Given the description of an element on the screen output the (x, y) to click on. 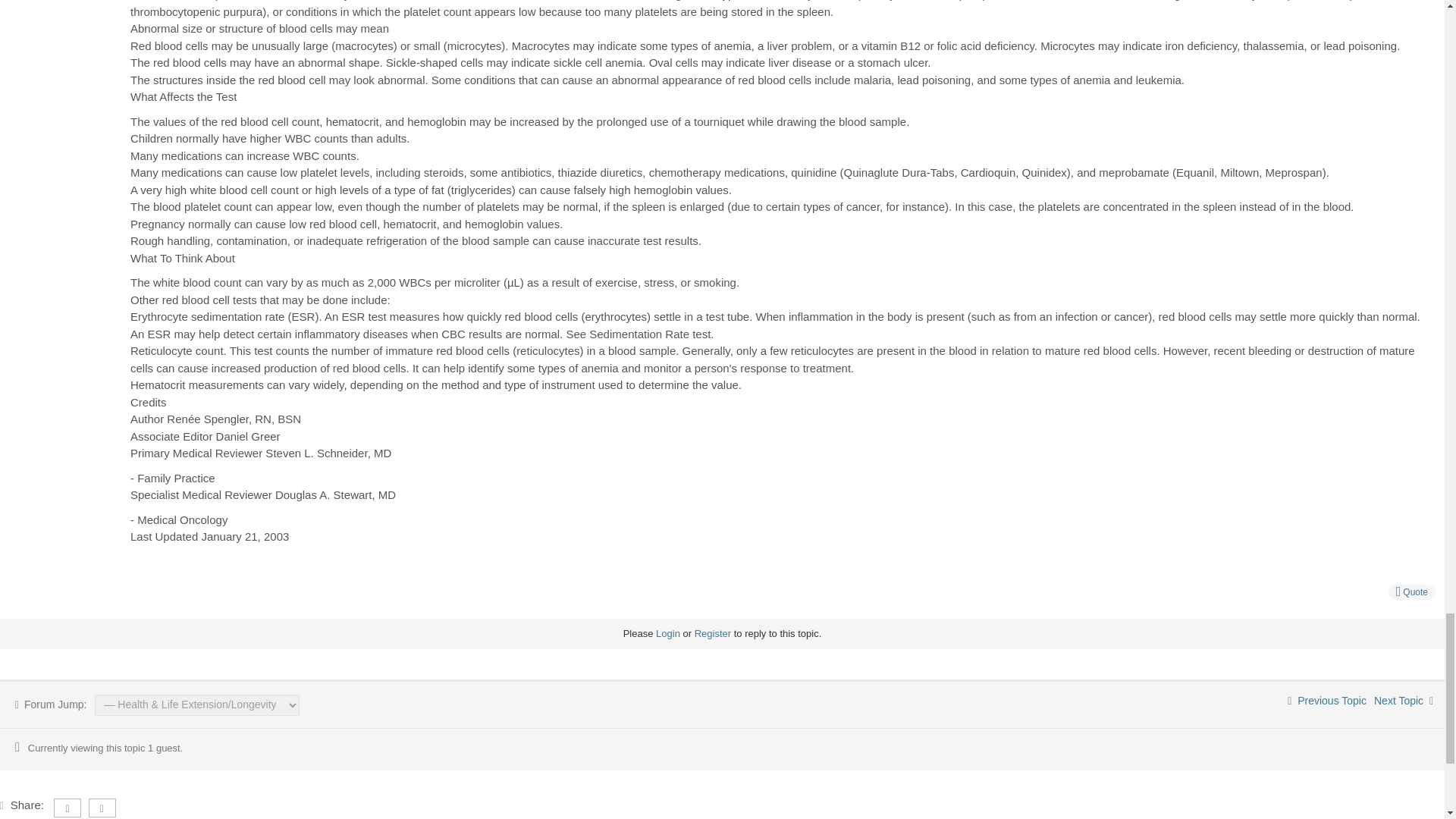
  Previous Topic (1327, 700)
Next Topic   (1403, 700)
Register (712, 633)
Tylers Liver Detox (1403, 700)
Is it a getting older thing? (1327, 700)
Login (667, 633)
